Given the description of an element on the screen output the (x, y) to click on. 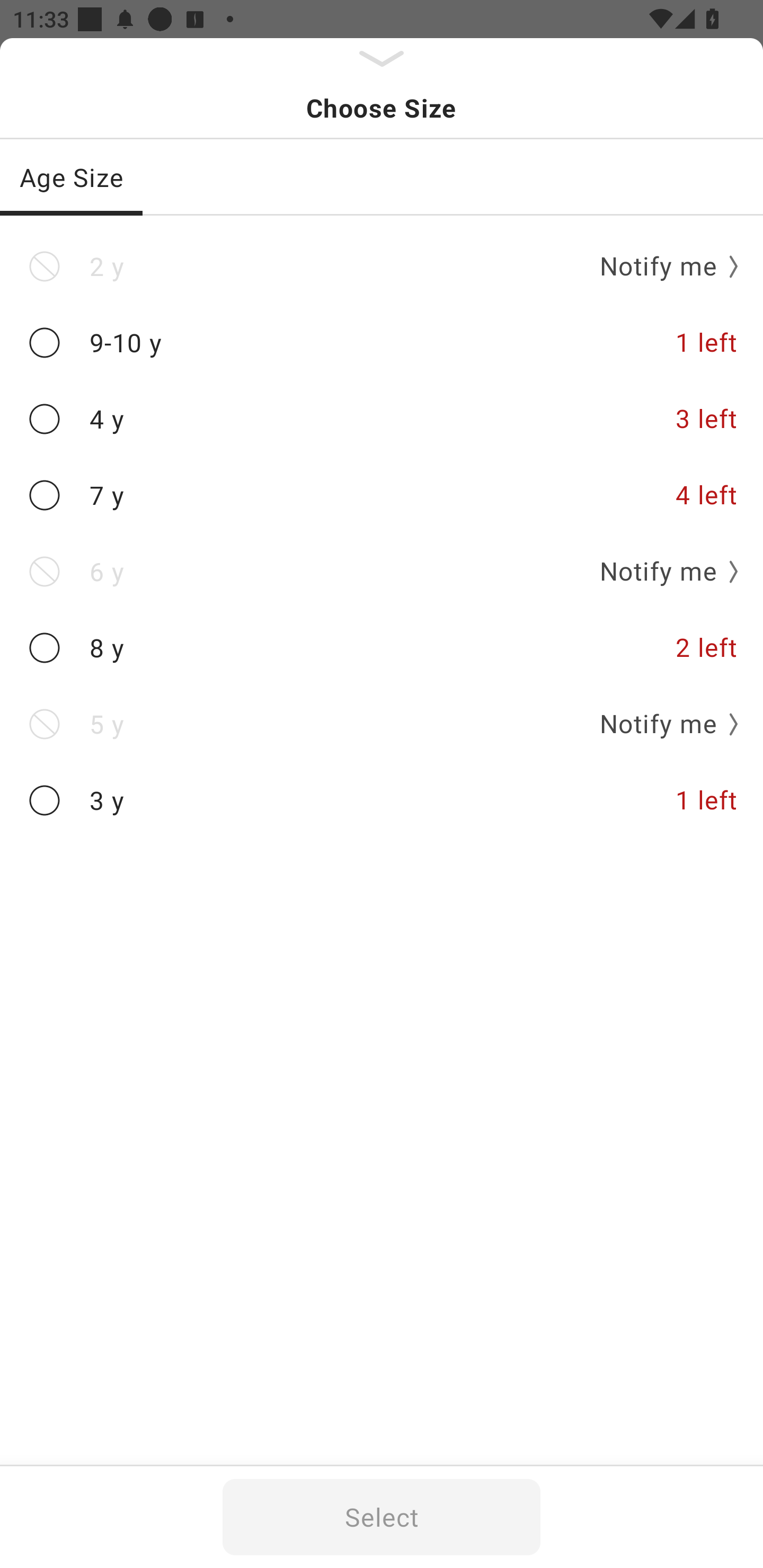
2 y Notify me (381, 266)
Notify me (661, 266)
9-10 y 1 left (381, 342)
4 y 3 left (381, 419)
7 y 4 left (381, 495)
6 y Notify me (381, 571)
Notify me (661, 571)
8 y 2 left (381, 647)
5 y Notify me (381, 724)
Notify me (661, 724)
3 y 1 left (381, 800)
Select (381, 1516)
